Given the description of an element on the screen output the (x, y) to click on. 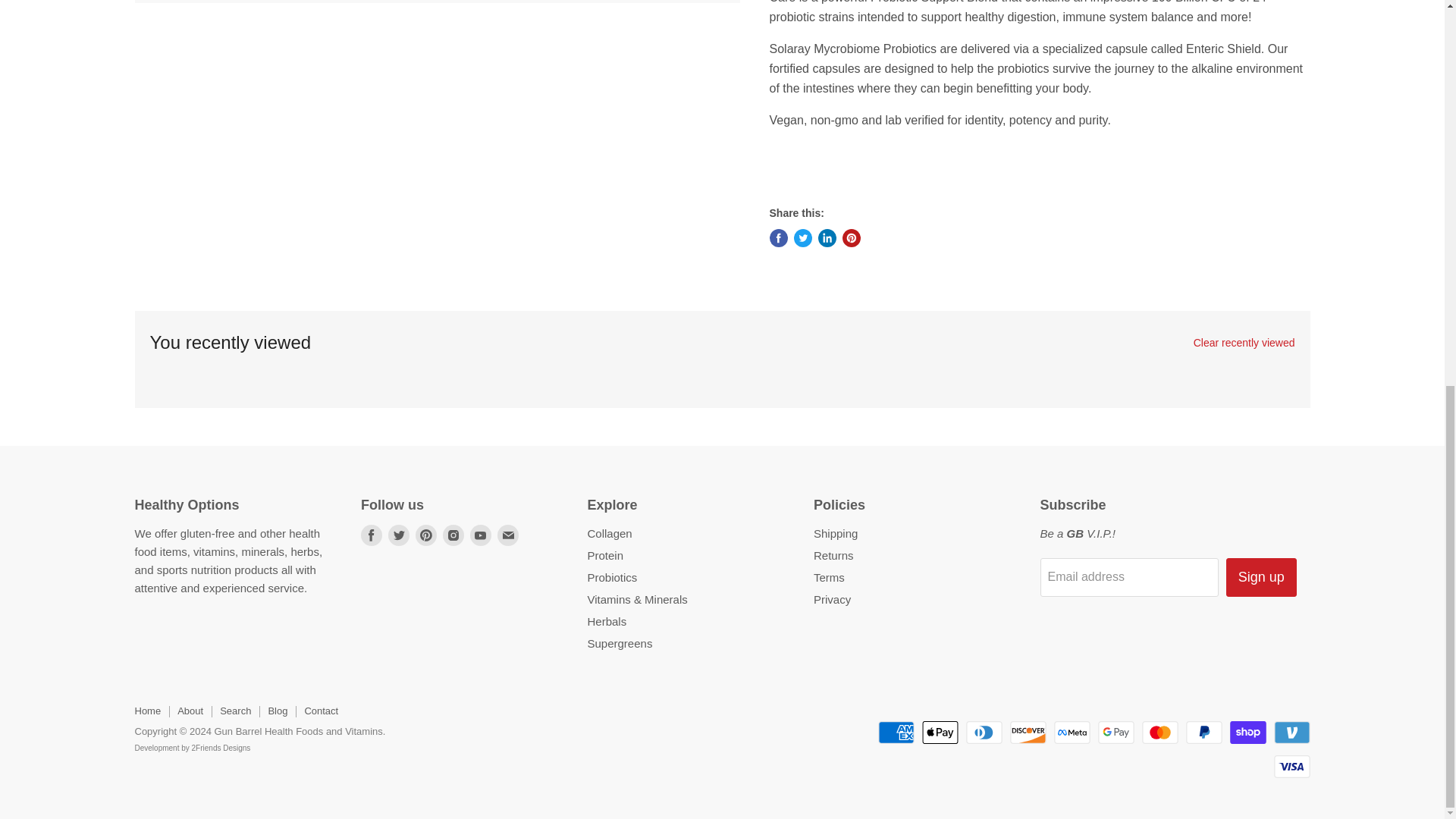
Email (507, 535)
Twitter (398, 535)
Youtube (481, 535)
Pinterest (425, 535)
Facebook (371, 535)
Instagram (453, 535)
